Given the description of an element on the screen output the (x, y) to click on. 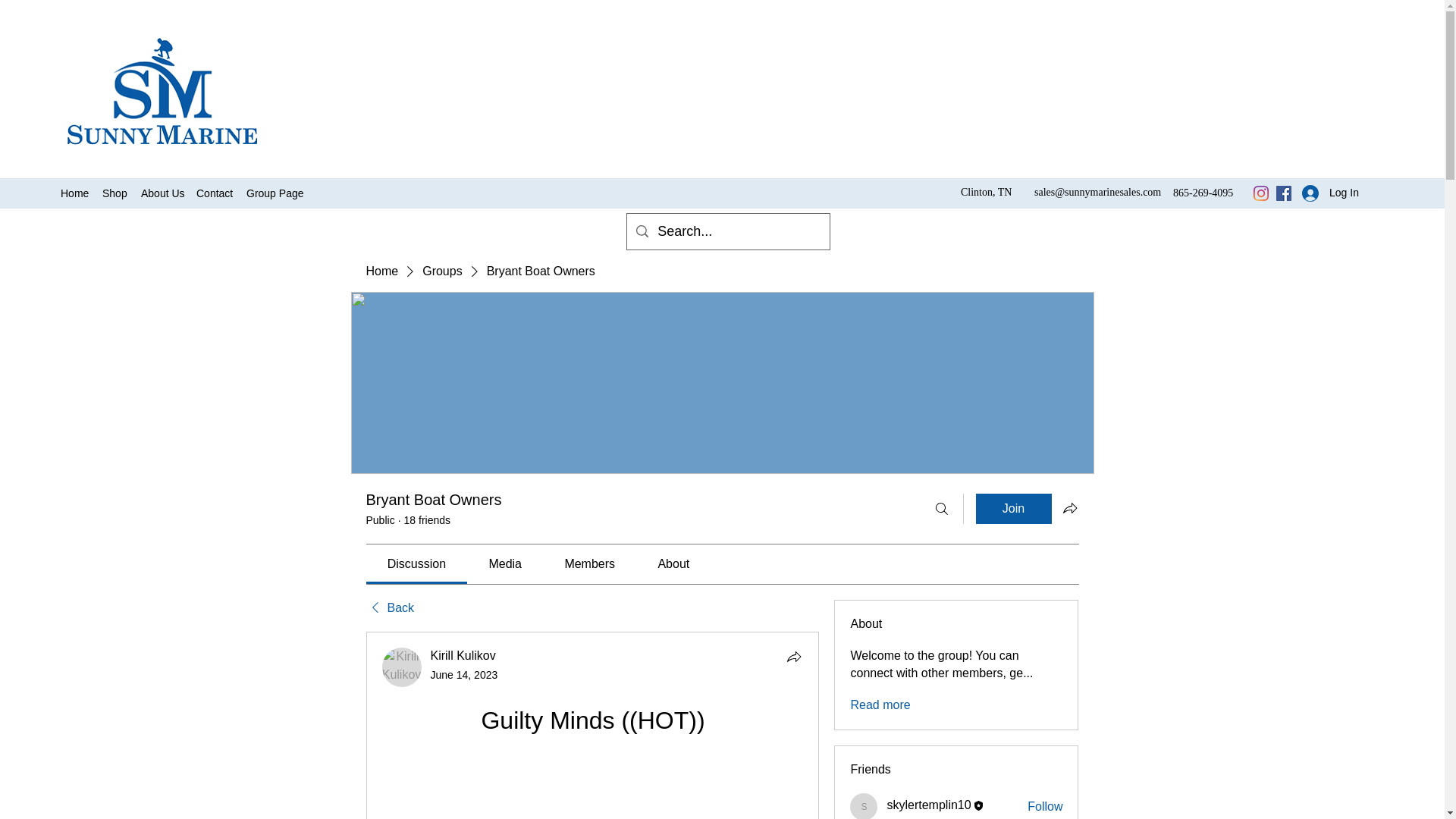
Back (389, 607)
Shop (113, 192)
Join (1013, 508)
Contact (213, 192)
Group Page (273, 192)
skylertemplin10 (863, 806)
Read more (880, 704)
About Us (161, 192)
Log In (1325, 193)
Follow (1044, 806)
Home (73, 192)
skylertemplin10 (928, 804)
Home (381, 271)
June 14, 2023 (463, 674)
Groups (441, 271)
